Given the description of an element on the screen output the (x, y) to click on. 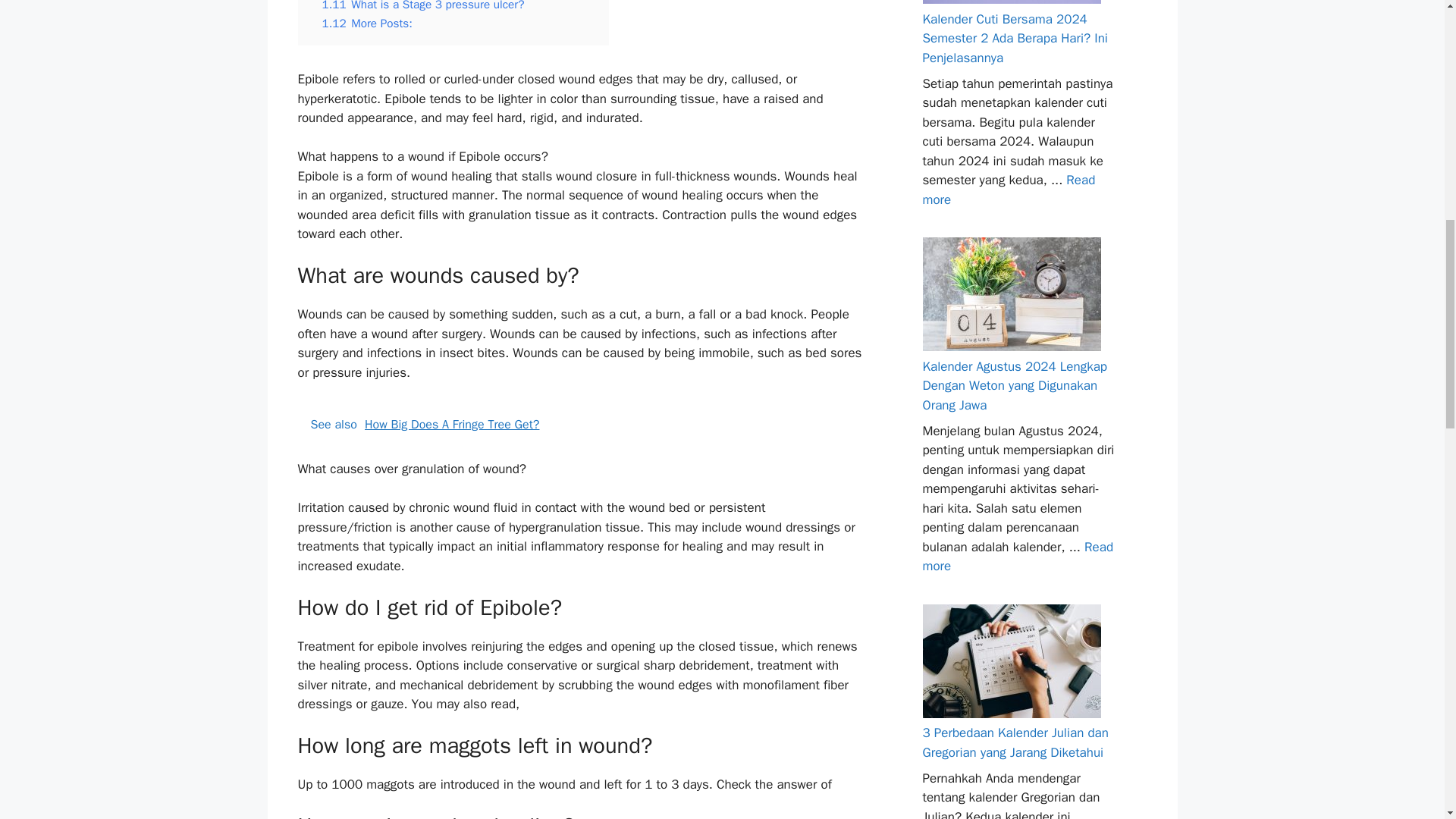
1.11 What is a Stage 3 pressure ulcer? (422, 6)
See also  How Big Does A Fringe Tree Get? (579, 424)
1.12 More Posts: (366, 23)
